Given the description of an element on the screen output the (x, y) to click on. 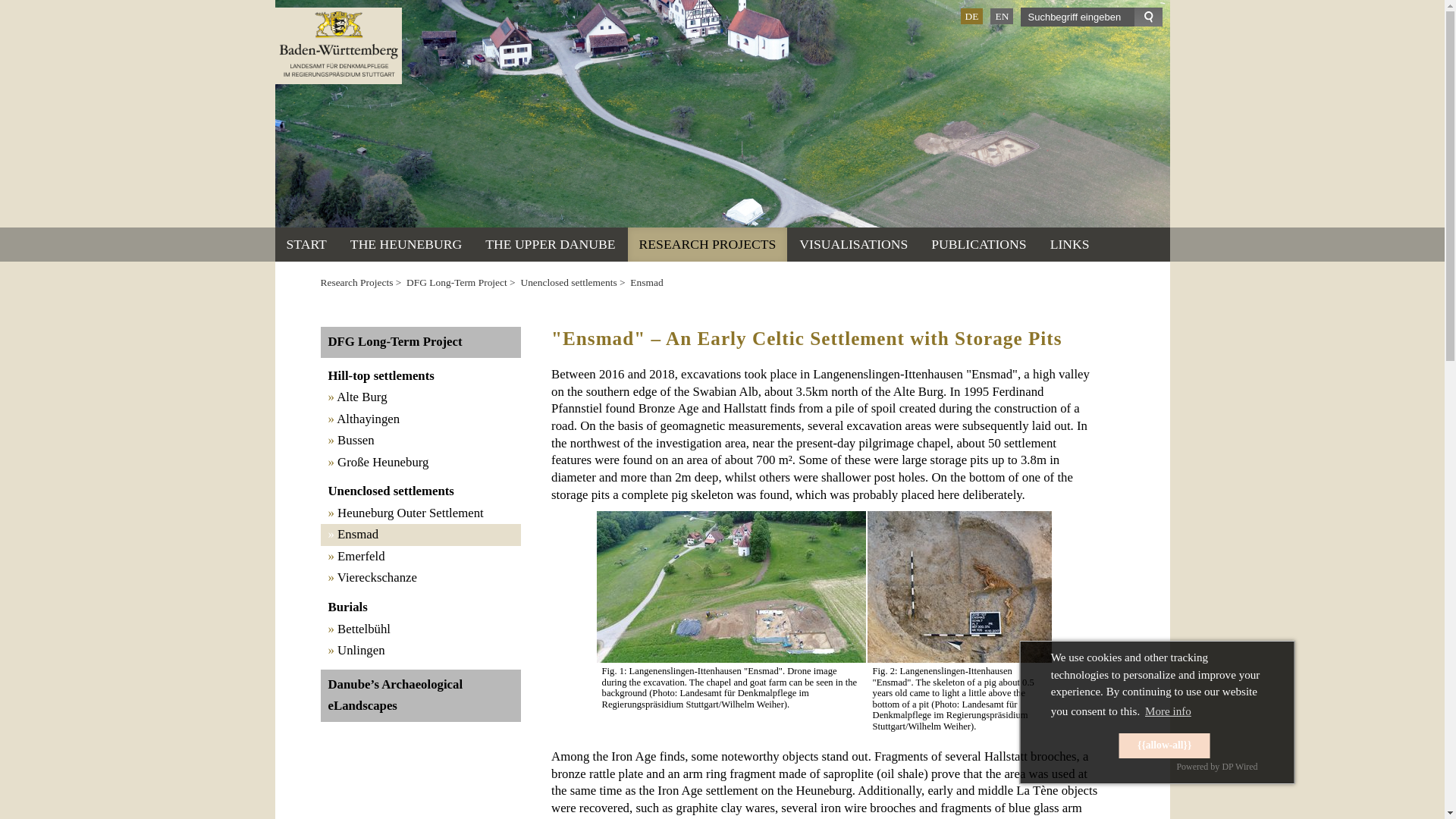
THE UPPER DANUBE (550, 244)
DE (970, 16)
RESEARCH PROJECTS (707, 244)
THE HEUNEBURG (406, 244)
EN (1001, 16)
START (306, 244)
VISUALISATIONS (852, 244)
